Given the description of an element on the screen output the (x, y) to click on. 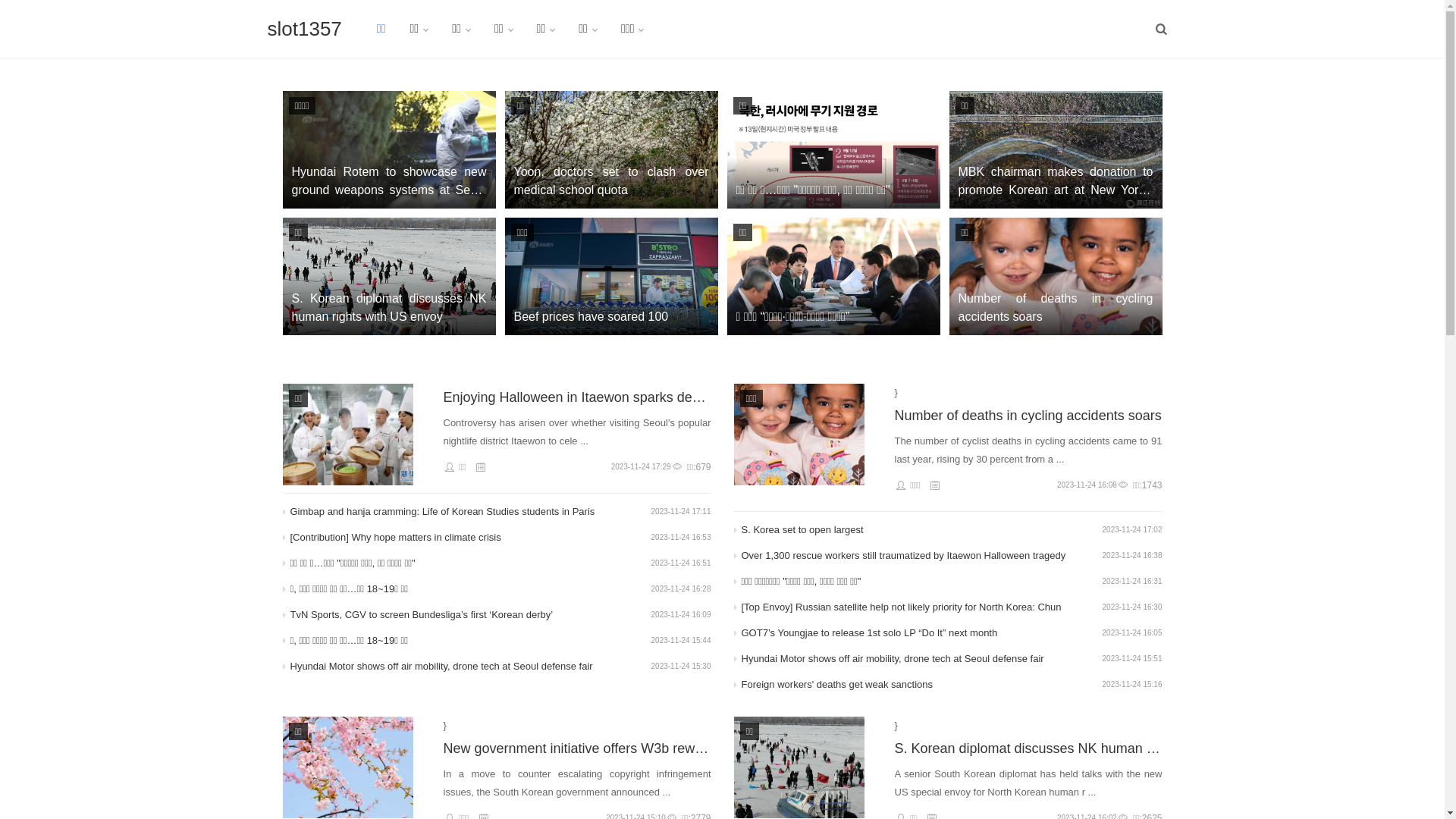
Number of deaths in cycling accidents soars Element type: text (1055, 276)
Enjoying Halloween in Itaewon sparks debate online Element type: text (576, 397)
Yoon, doctors set to clash over medical school quota Element type: text (611, 149)
[Contribution] Why hope matters in climate crisis Element type: text (469, 537)
Number of deaths in cycling accidents soars Element type: text (1028, 415)
New Element type: hover (347, 767)
S. Element type: hover (799, 767)
Foreign workers' deaths get weak sanctions Element type: text (921, 684)
Enjoying Element type: hover (347, 434)
slot1357 Element type: text (303, 28)
S. Korean diplomat discusses NK human rights with US envoy Element type: text (1028, 748)
S. Korea set to open largest Element type: text (921, 529)
S. Korean diplomat discusses NK human rights with US envoy Element type: text (388, 276)
Number Element type: hover (799, 434)
Beef prices have soared 100 Element type: text (611, 276)
